Given the description of an element on the screen output the (x, y) to click on. 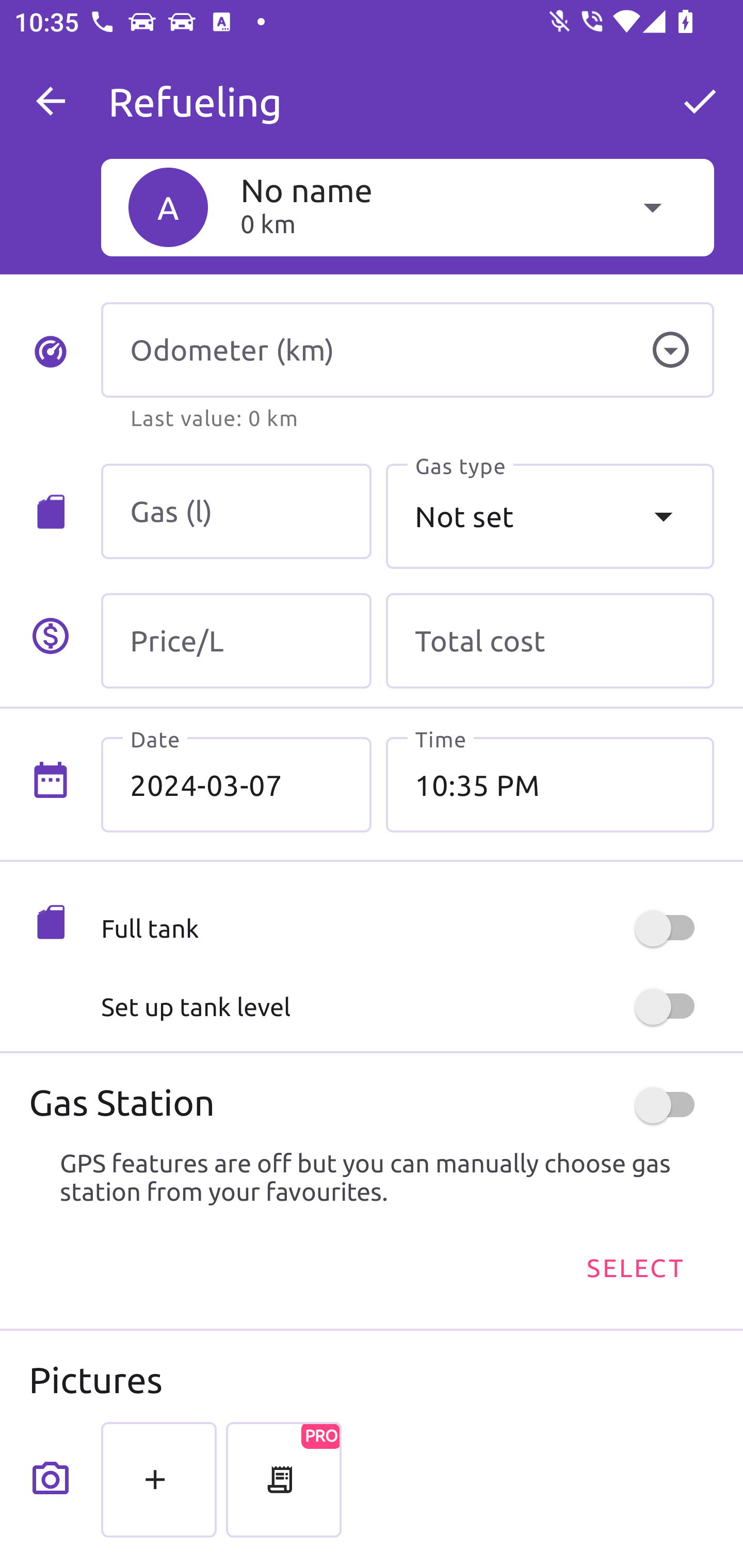
Navigate up (50, 101)
OK (699, 101)
A No name 0 km (407, 206)
Odometer (km) (407, 350)
Odometer (670, 349)
Gas (l) (236, 511)
Not set (549, 516)
Price/L (236, 640)
Total cost  (549, 640)
2024-03-07 (236, 784)
10:35 PM (549, 784)
Full tank (407, 928)
Set up tank level (407, 1006)
SELECT (634, 1267)
